Given the description of an element on the screen output the (x, y) to click on. 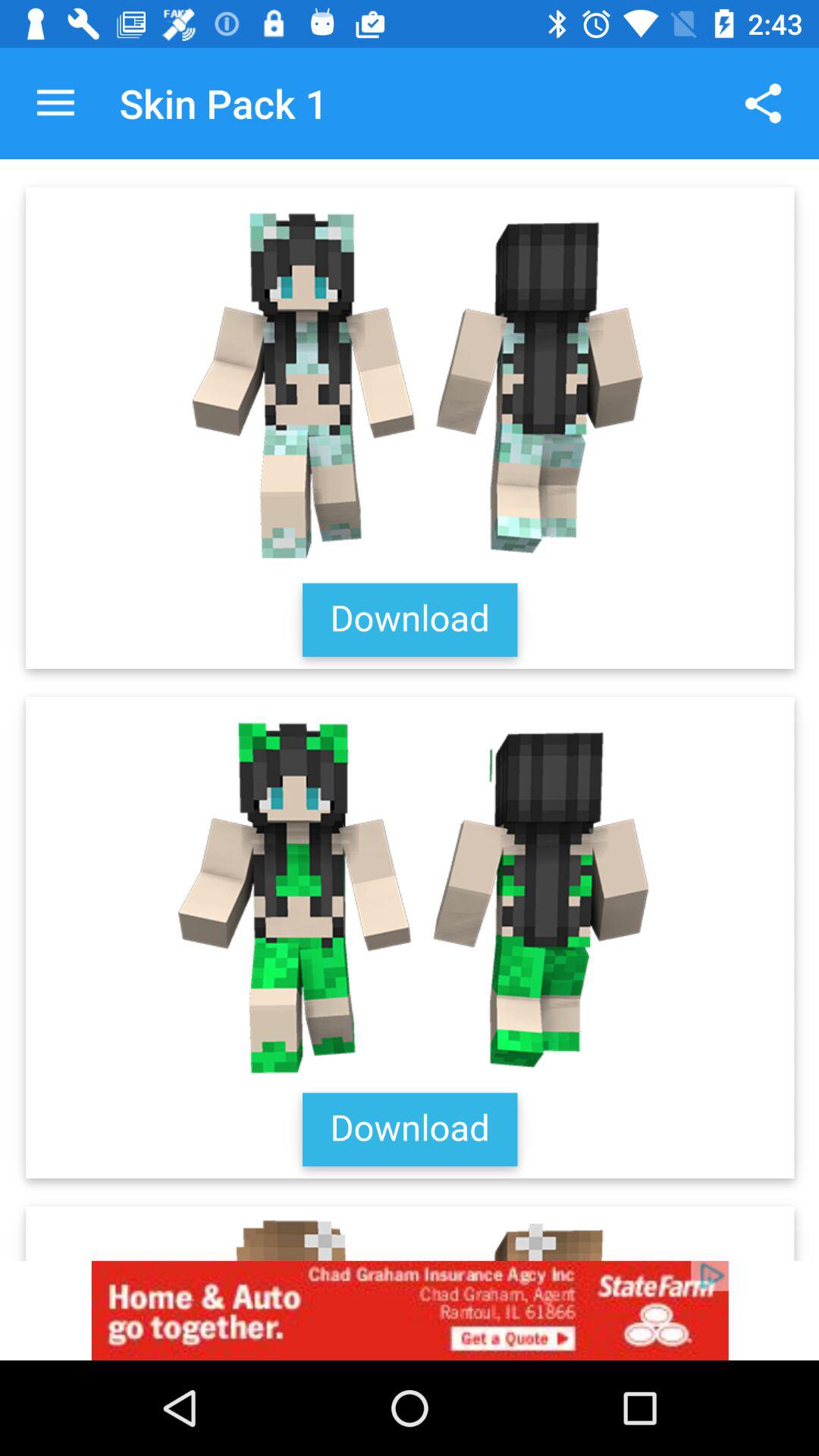
state fana (409, 1310)
